Given the description of an element on the screen output the (x, y) to click on. 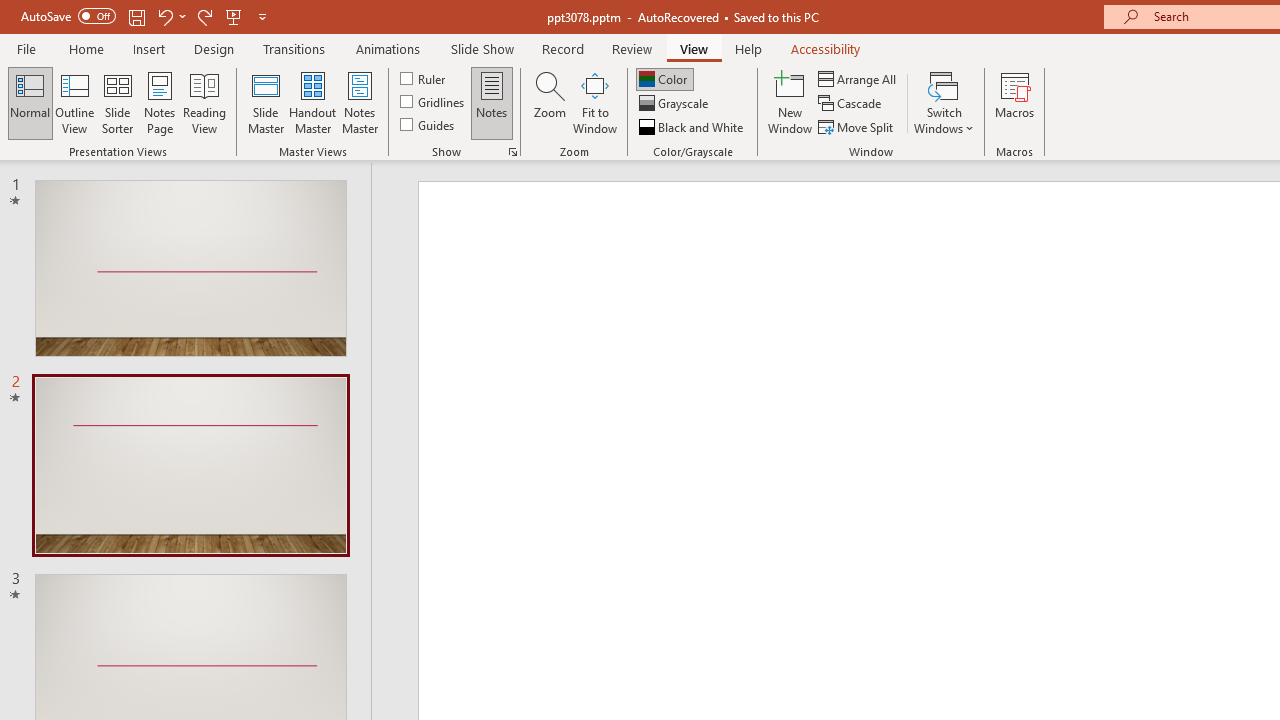
Fit to Window (594, 102)
Black and White (693, 126)
Guides (428, 124)
Zoom... (549, 102)
Switch Windows (943, 102)
Notes Master (360, 102)
